Given the description of an element on the screen output the (x, y) to click on. 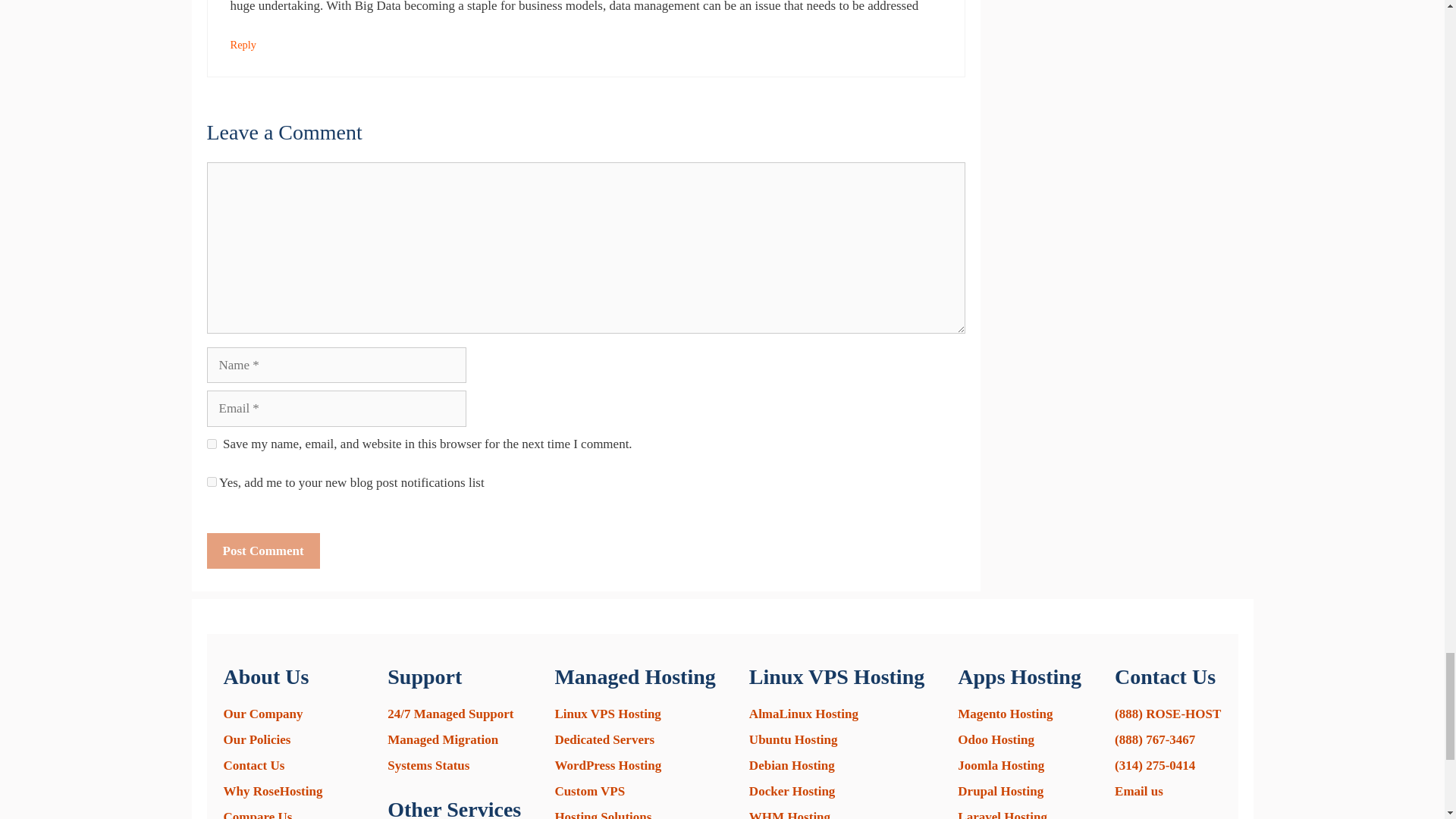
1 (210, 481)
Post Comment (262, 551)
yes (210, 443)
